Given the description of an element on the screen output the (x, y) to click on. 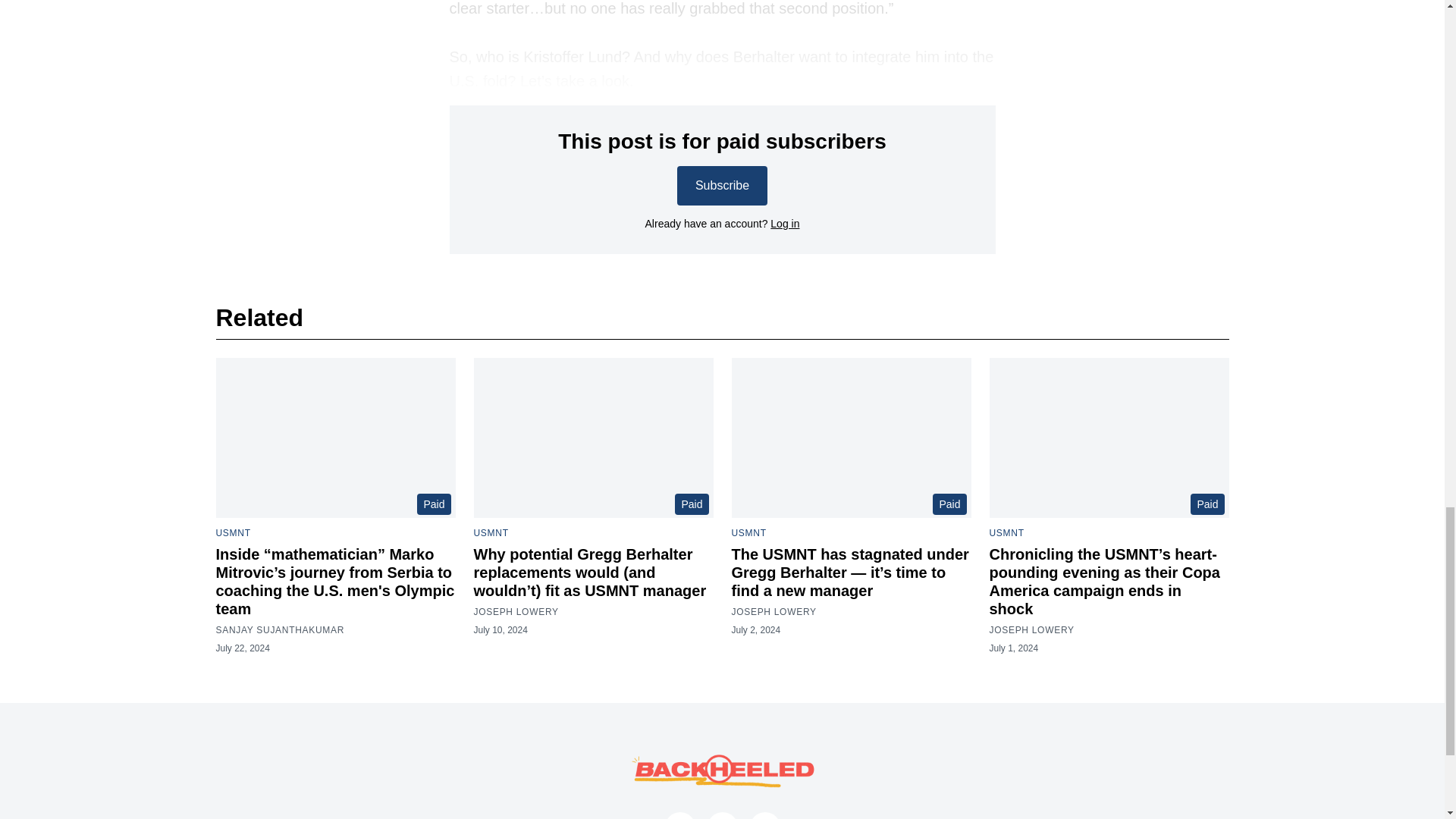
JOSEPH LOWERY (772, 612)
USMNT (490, 532)
JOSEPH LOWERY (1031, 630)
Log in (784, 223)
JOSEPH LOWERY (515, 612)
USMNT (747, 532)
Subscribe (722, 185)
USMNT (232, 532)
USMNT (1005, 532)
SANJAY SUJANTHAKUMAR (279, 630)
